Given the description of an element on the screen output the (x, y) to click on. 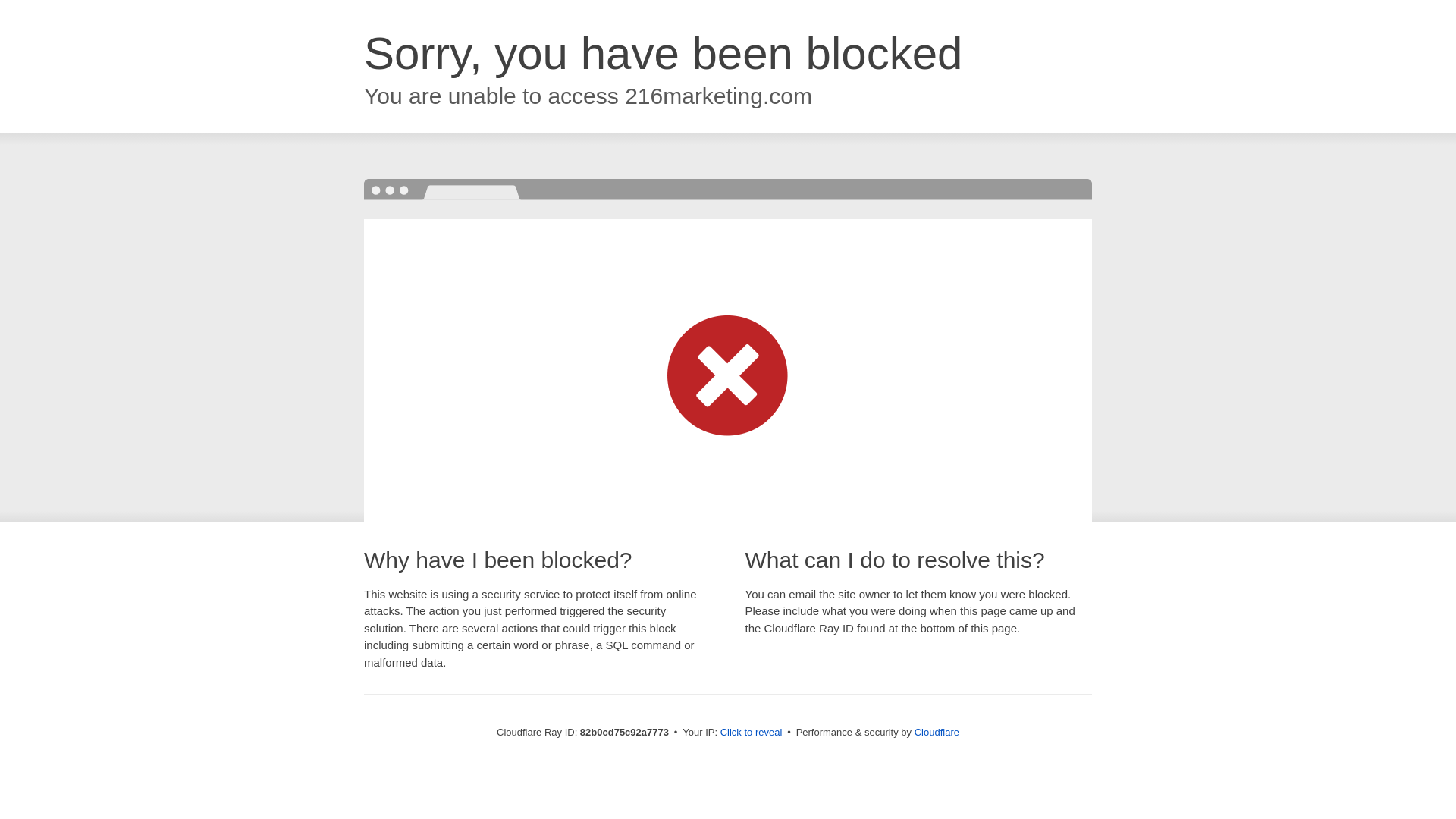
Cloudflare Element type: text (936, 731)
Click to reveal Element type: text (751, 732)
